Given the description of an element on the screen output the (x, y) to click on. 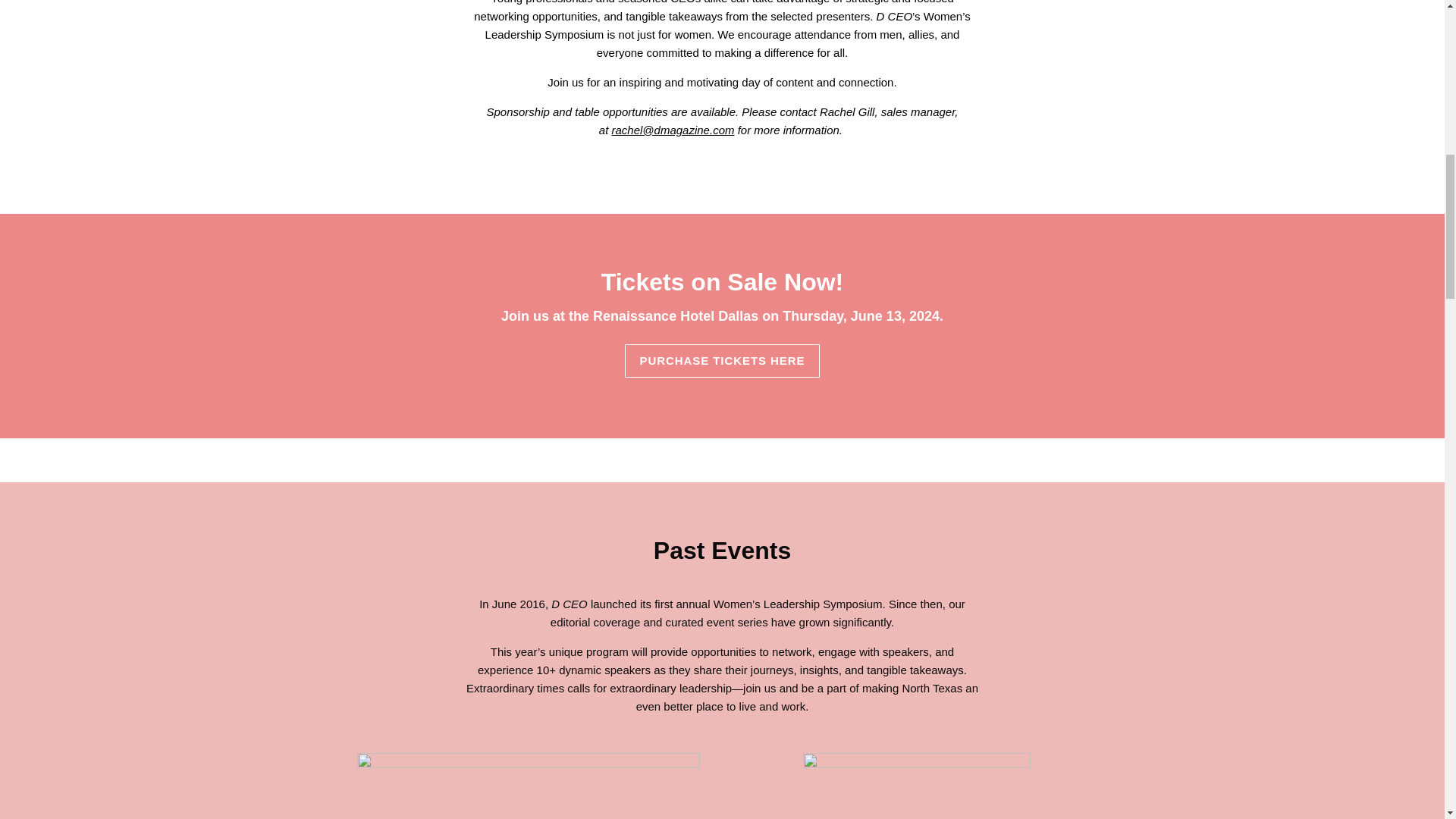
PURCHASE TICKETS HERE (721, 360)
